Given the description of an element on the screen output the (x, y) to click on. 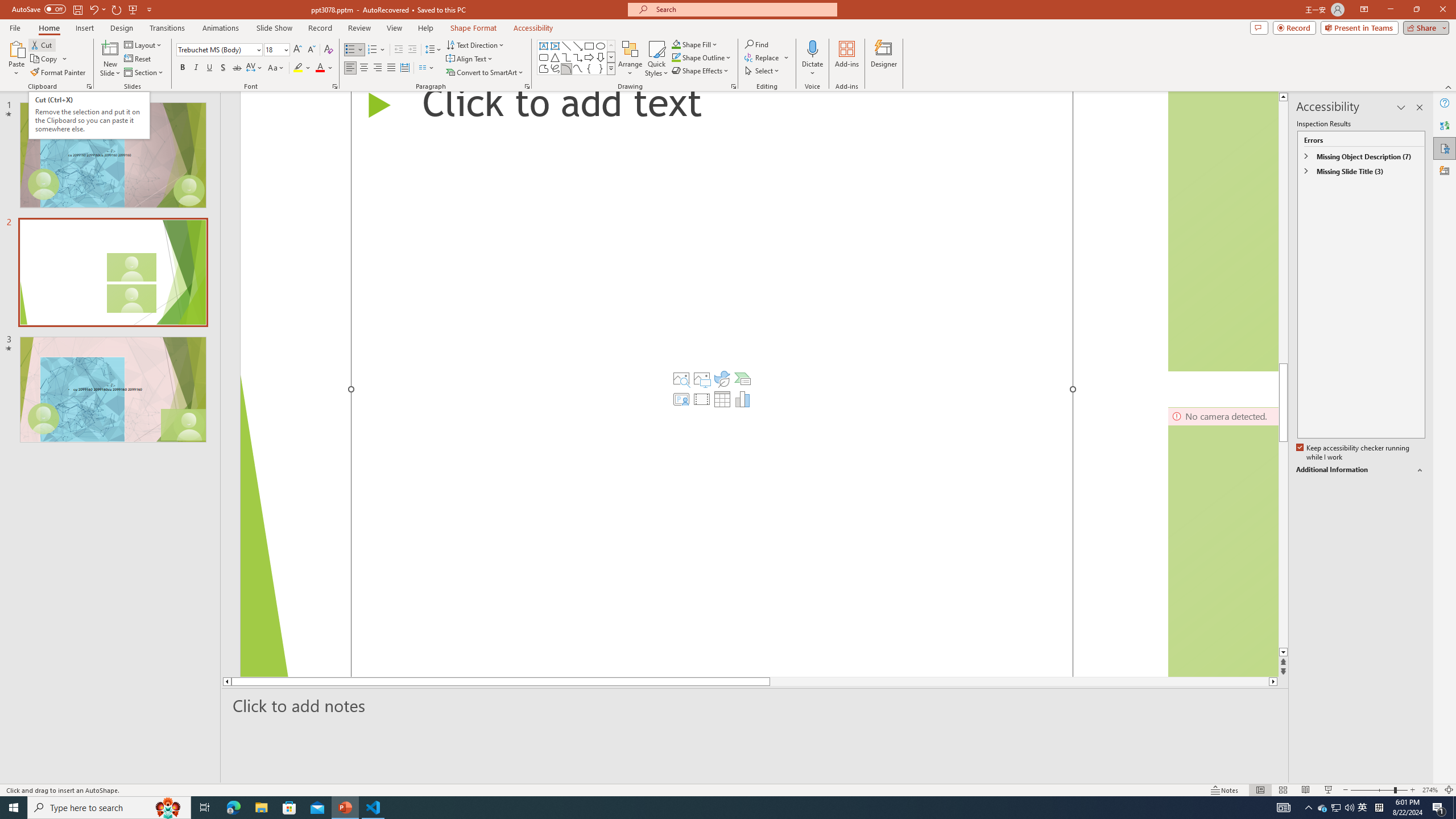
Pictures (701, 378)
